Given the description of an element on the screen output the (x, y) to click on. 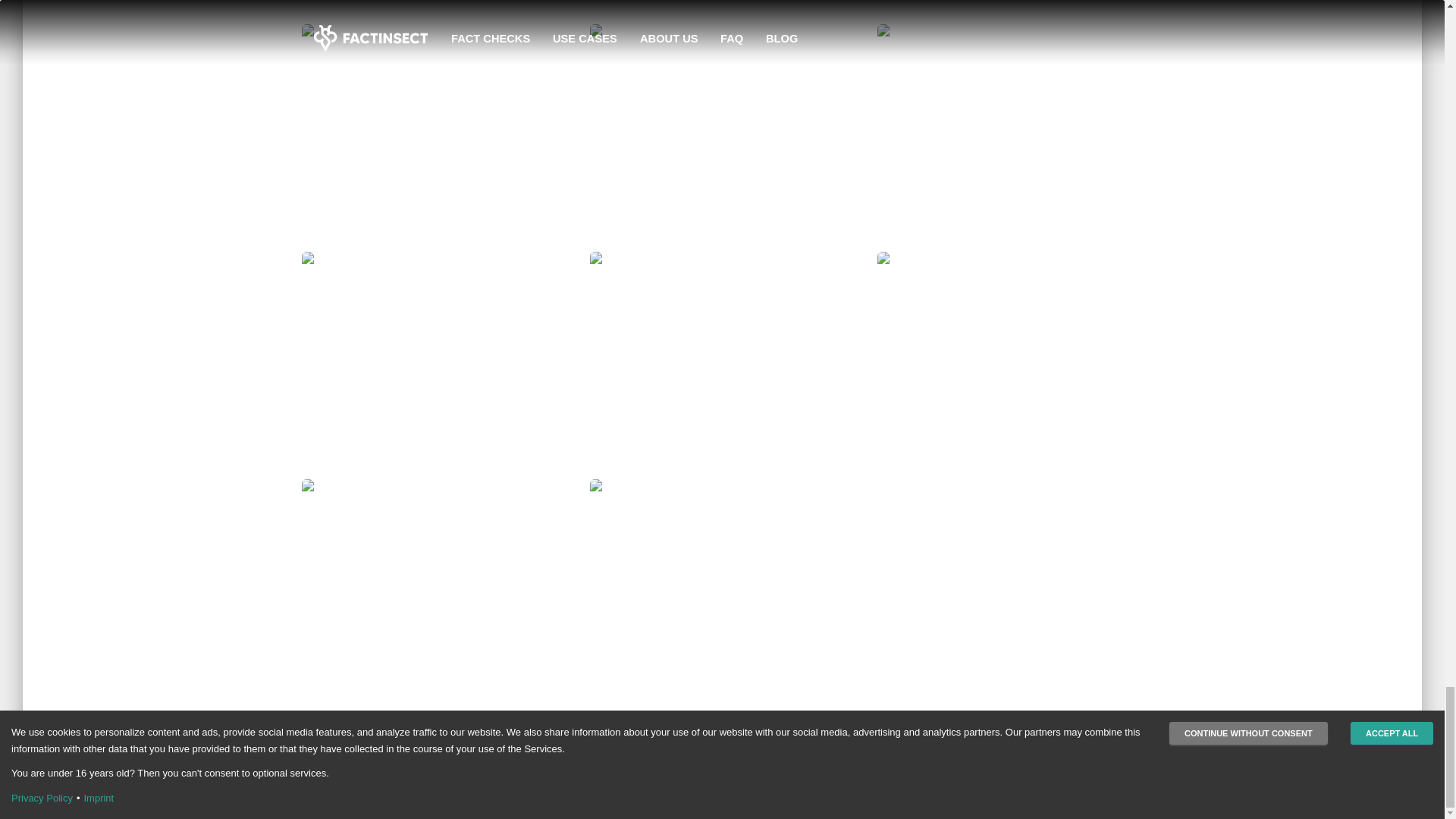
Factinsect is presenting in front of journalistis (722, 137)
Factinsect Founders Silja Kempinger and Romana Dorfer (434, 12)
